Given the description of an element on the screen output the (x, y) to click on. 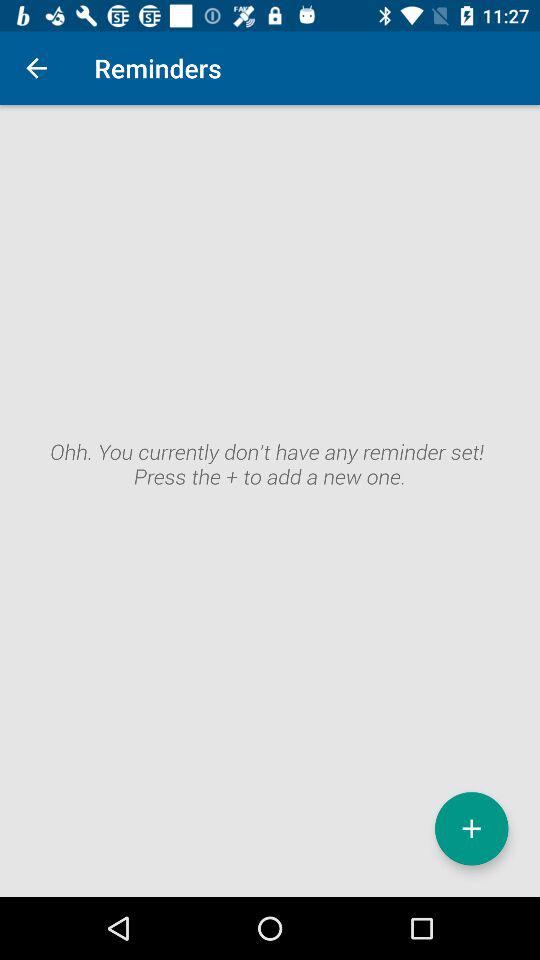
check remainders (270, 501)
